Given the description of an element on the screen output the (x, y) to click on. 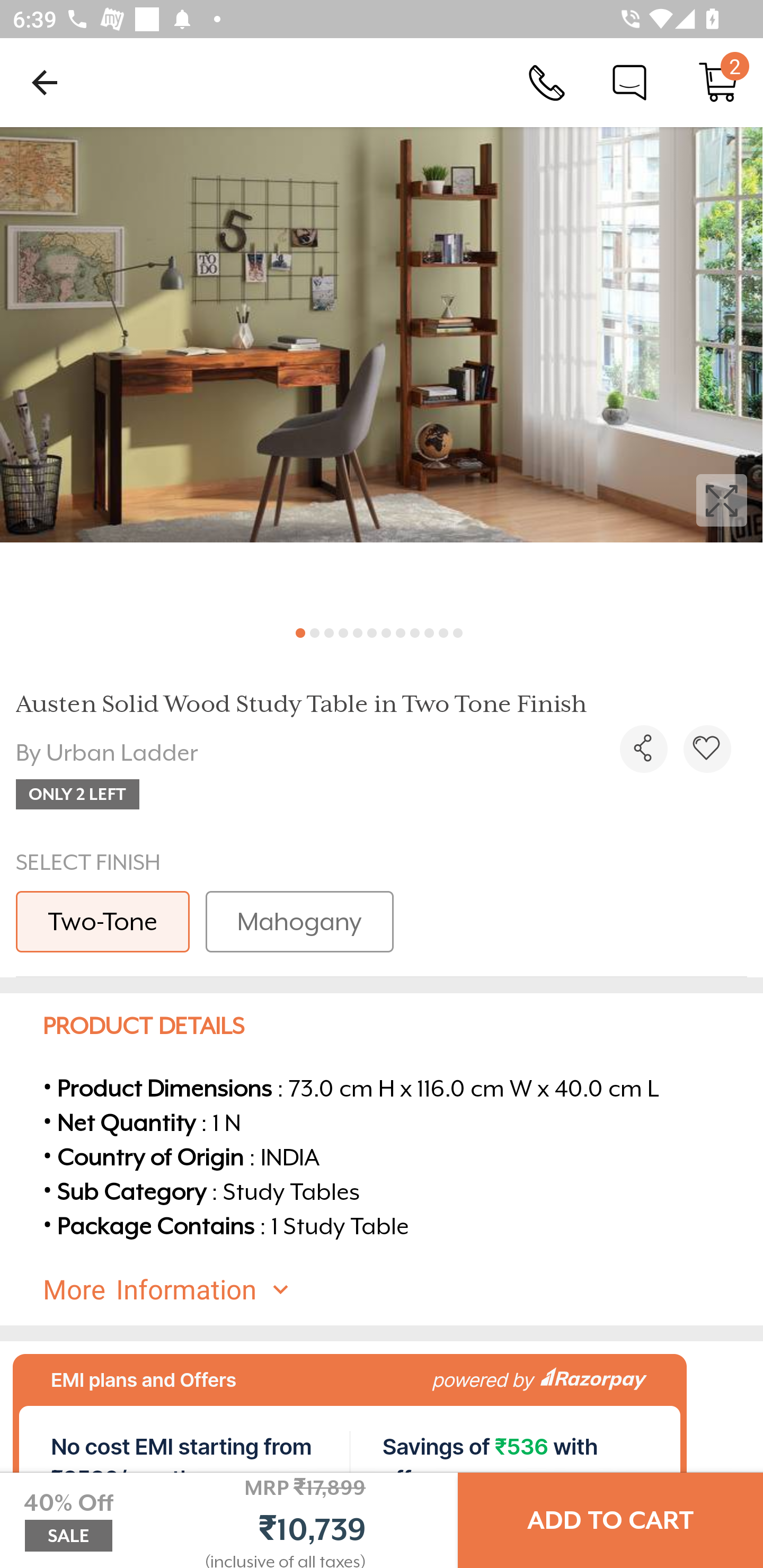
Navigate up (44, 82)
Call Us (546, 81)
Chat (629, 81)
Cart (718, 81)
 (381, 370)
 (643, 748)
 (706, 748)
Two-Tone (102, 920)
Mahogany (299, 920)
More Information  (396, 1289)
ADD TO CART (610, 1520)
